Given the description of an element on the screen output the (x, y) to click on. 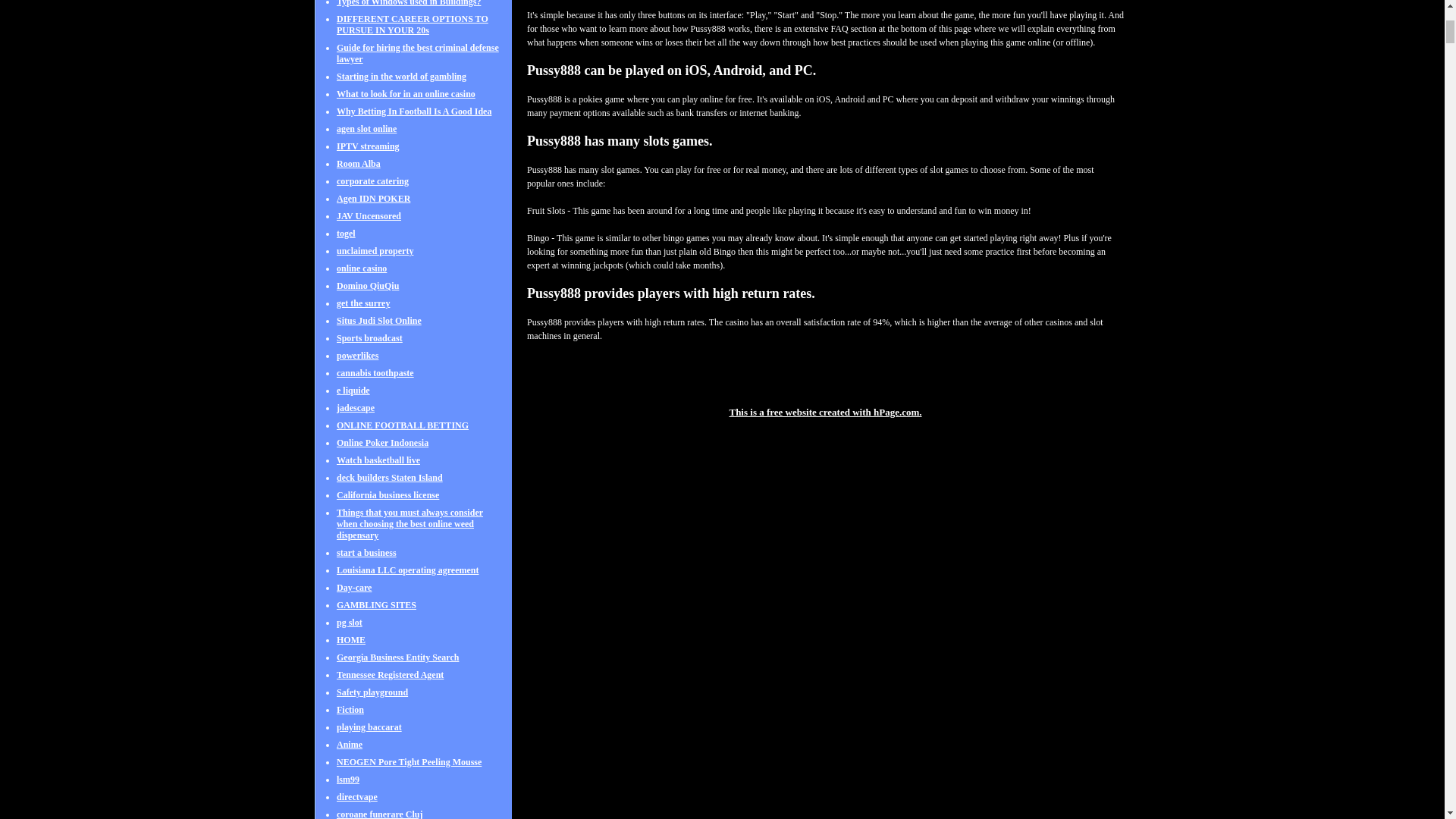
What are the benefits of windows and doors in your home? (409, 2)
Types of Windows used in Buildings? (408, 11)
